Given the description of an element on the screen output the (x, y) to click on. 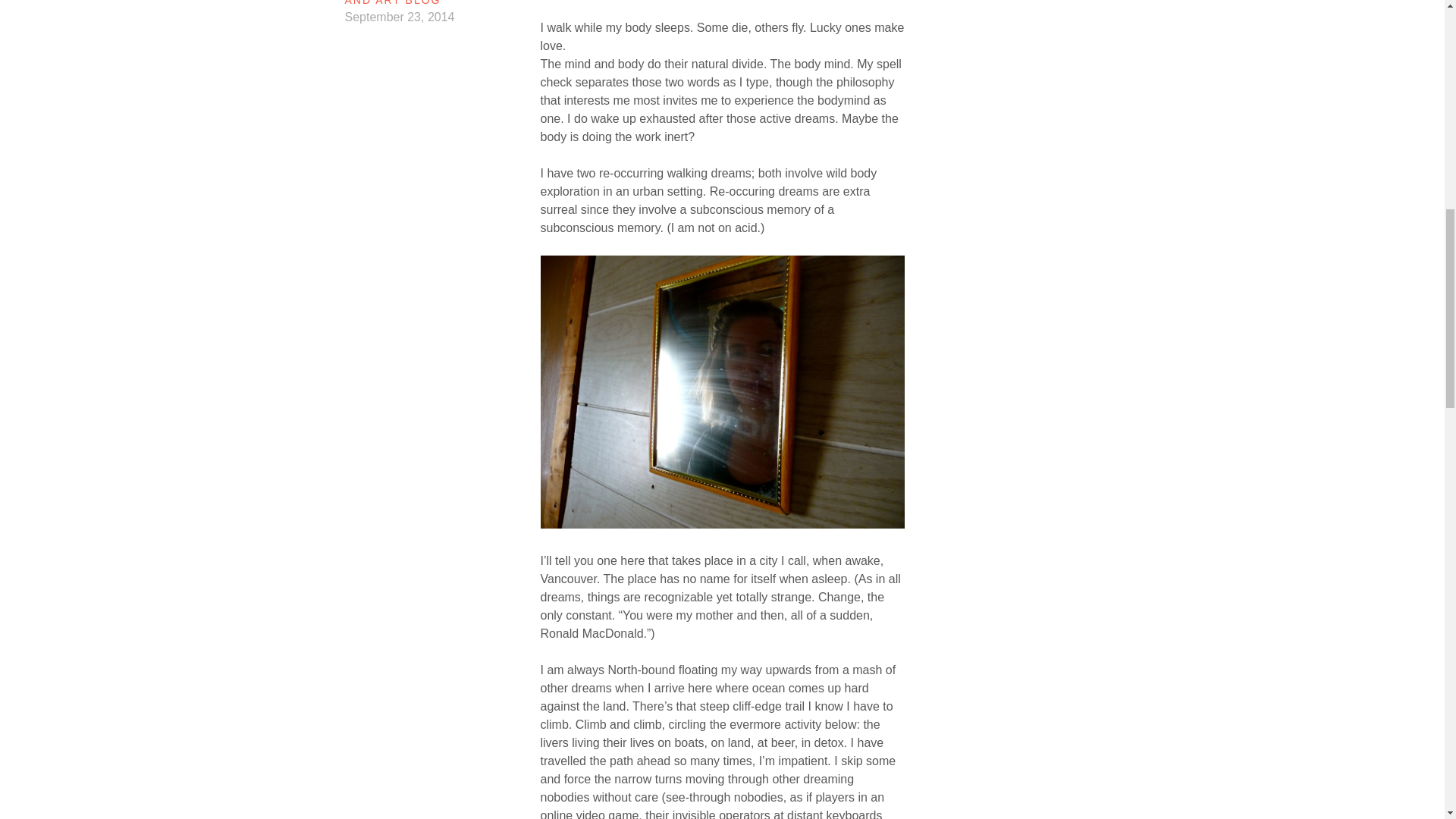
WRITING AND ART BLOG (421, 2)
September 23, 2014 (398, 16)
